Given the description of an element on the screen output the (x, y) to click on. 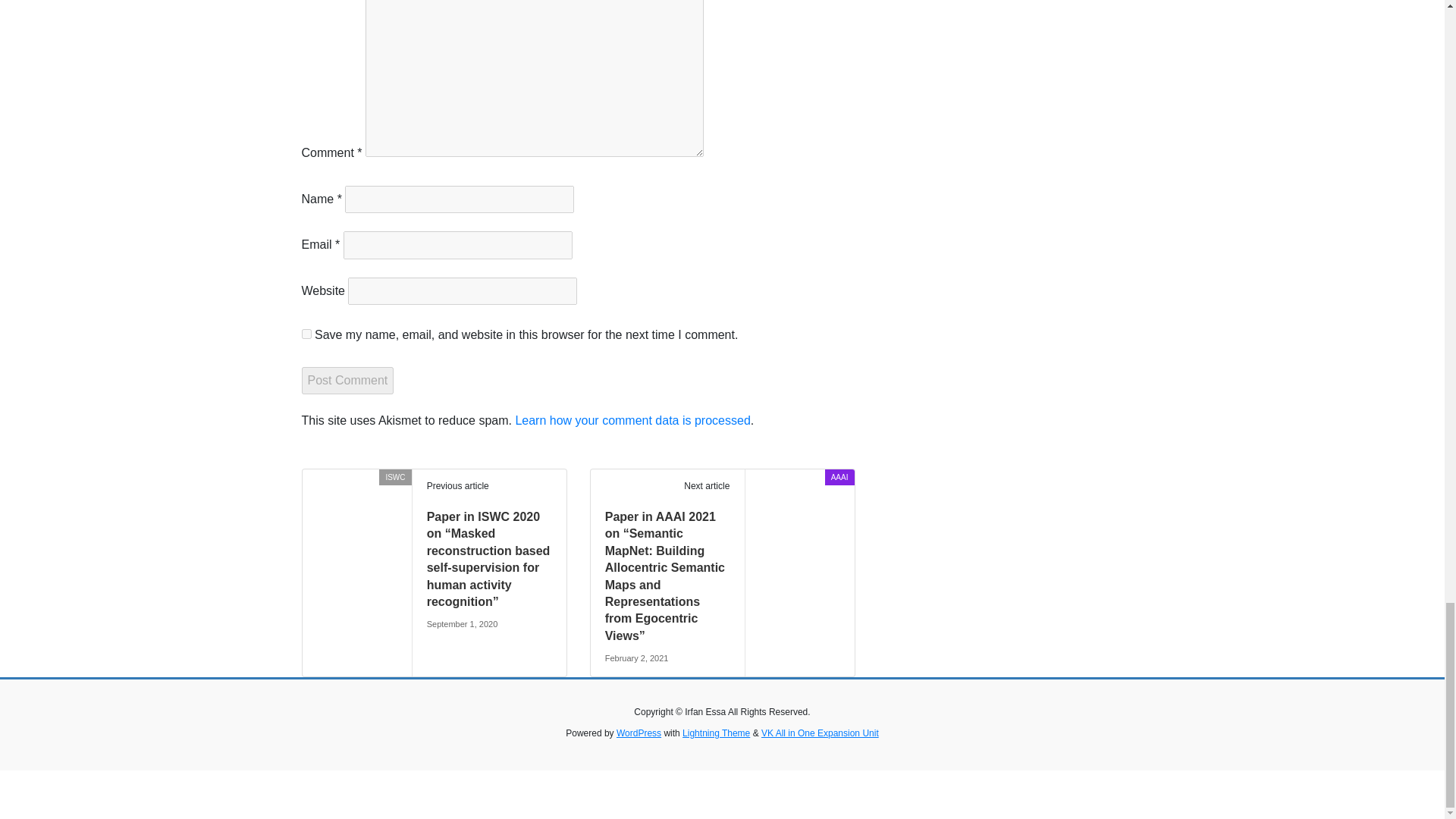
Post Comment (347, 379)
Free WordPress Theme Lightning (715, 733)
yes (306, 333)
